Given the description of an element on the screen output the (x, y) to click on. 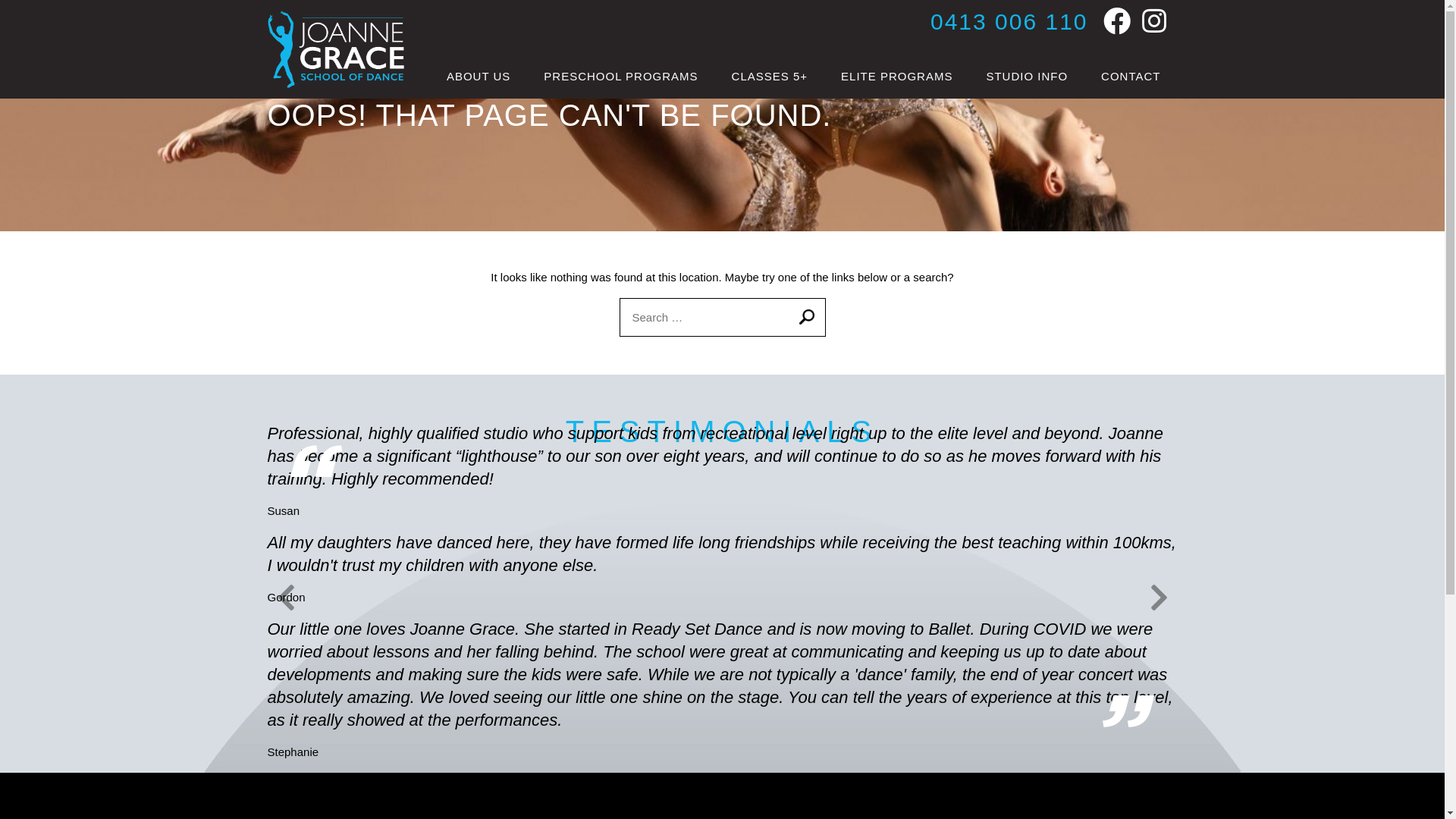
ABOUT US Element type: text (478, 76)
CONTACT Element type: text (1130, 76)
ELITE PROGRAMS Element type: text (896, 76)
CLASSES 5+ Element type: text (769, 76)
STUDIO INFO Element type: text (1026, 76)
PRESCHOOL PROGRAMS Element type: text (620, 76)
